Given the description of an element on the screen output the (x, y) to click on. 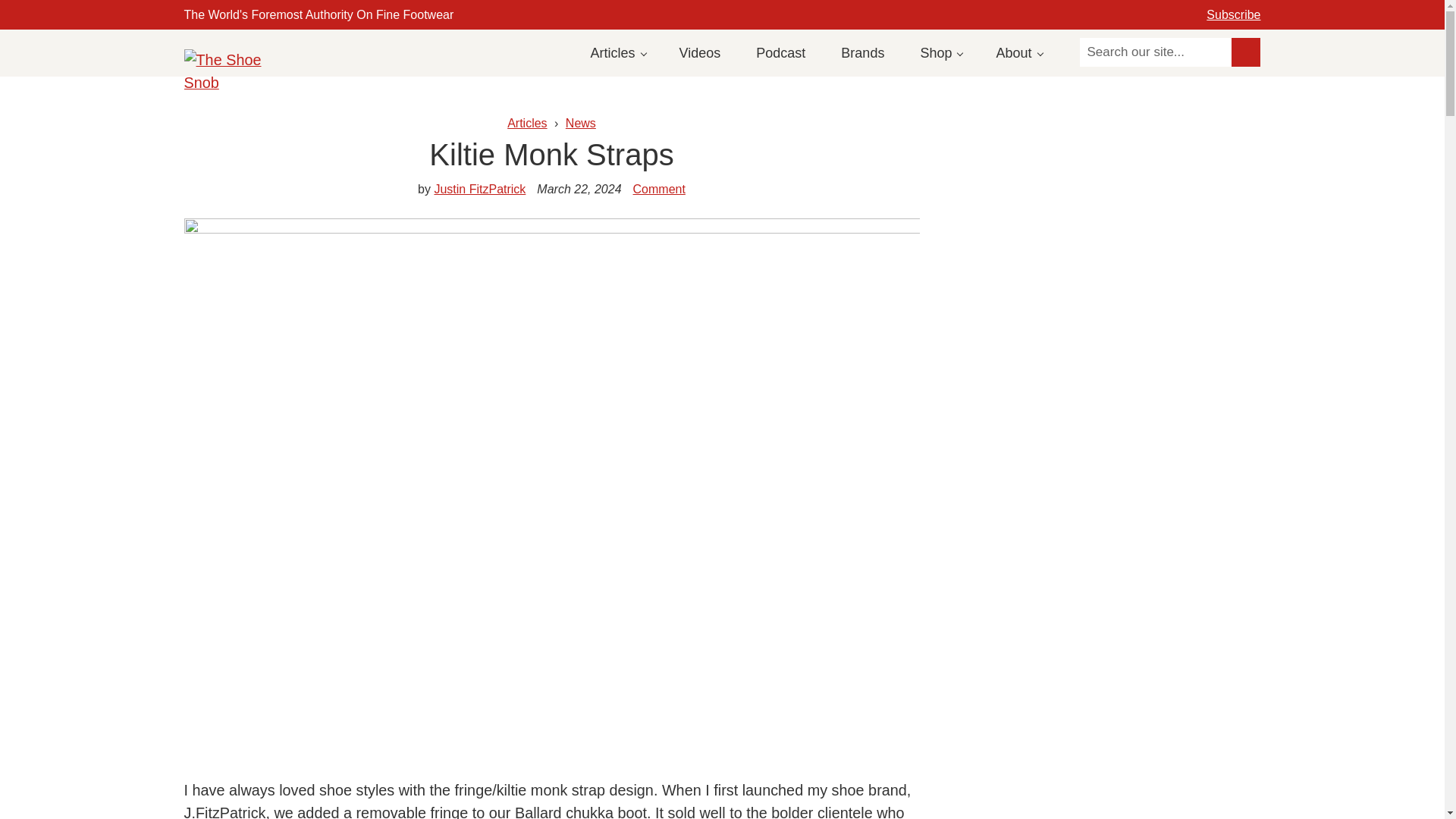
Subscribe (1233, 14)
Articles (617, 52)
Videos (699, 52)
Podcast (780, 52)
Submit search (1245, 51)
Submit search (1245, 51)
